Given the description of an element on the screen output the (x, y) to click on. 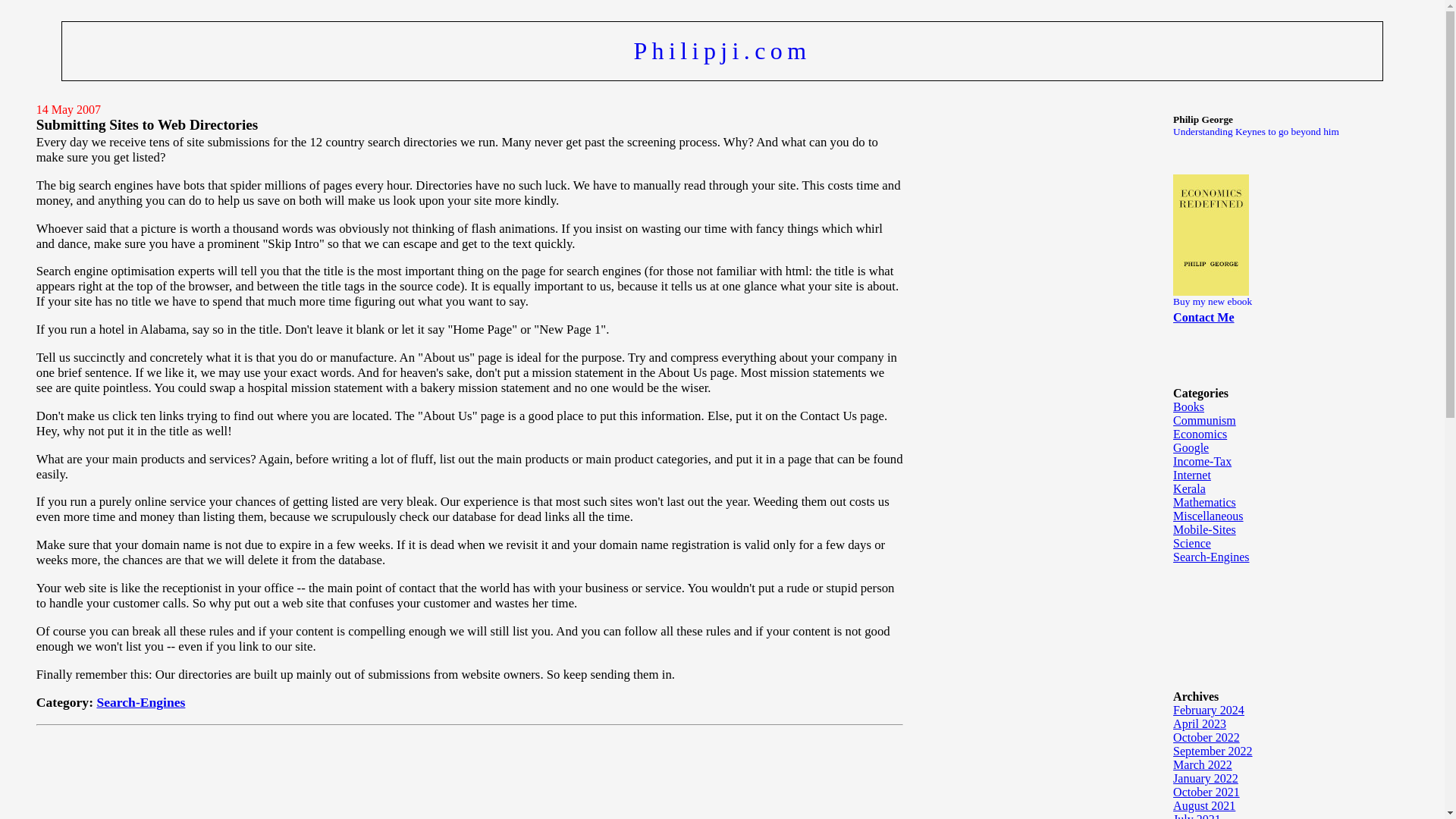
Communism (1204, 420)
Search-Engines (140, 702)
April 2023 (1199, 723)
Income-Tax (1202, 461)
Search-Engines (1211, 556)
Books (1188, 406)
Internet (1192, 474)
Kerala (1189, 488)
February 2024 (1208, 709)
Google (1190, 447)
Science (1192, 543)
March 2022 (1202, 764)
Contact Me (1203, 317)
January 2022 (1206, 778)
August 2021 (1203, 805)
